Given the description of an element on the screen output the (x, y) to click on. 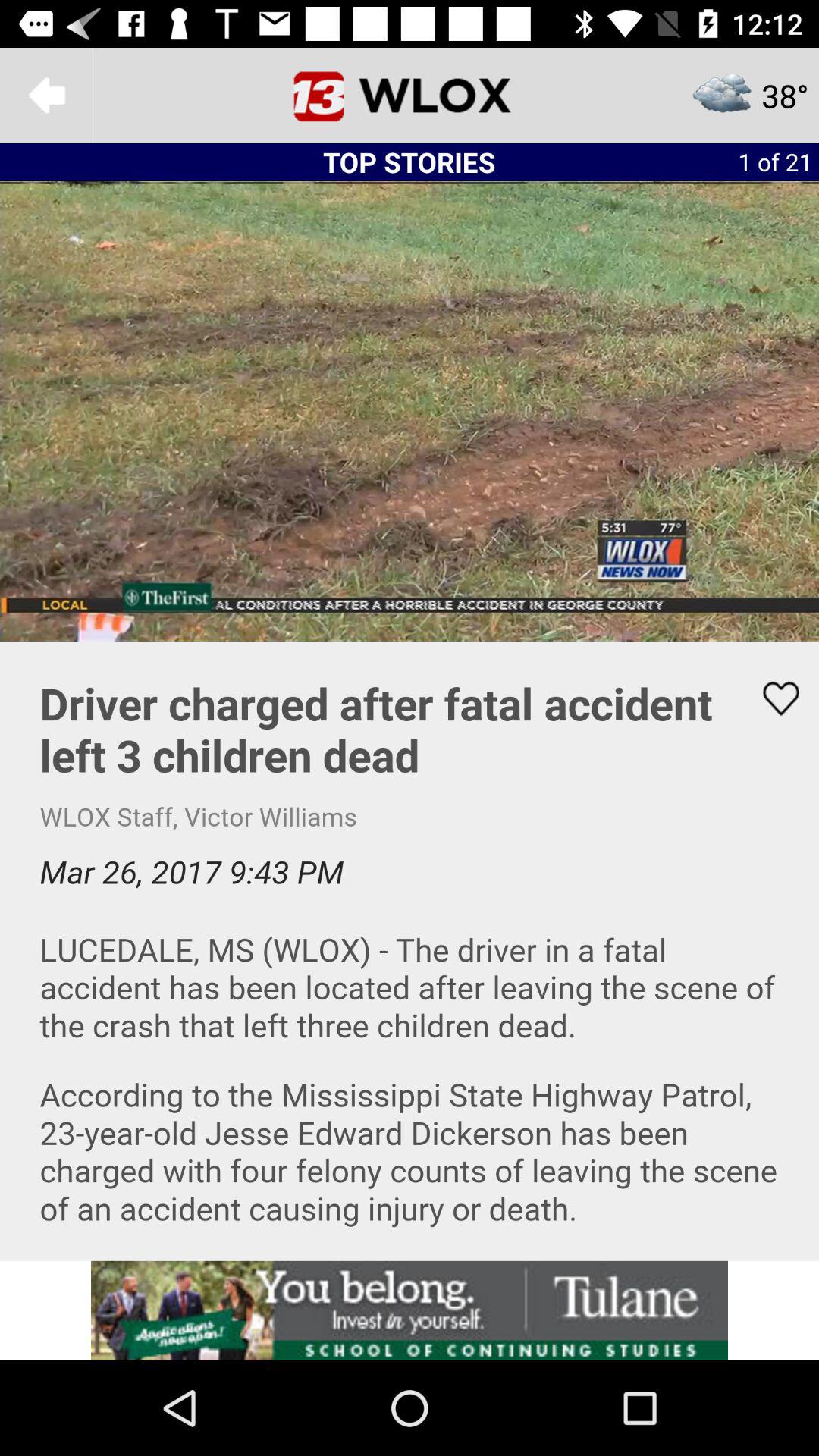
main article (409, 950)
